Given the description of an element on the screen output the (x, y) to click on. 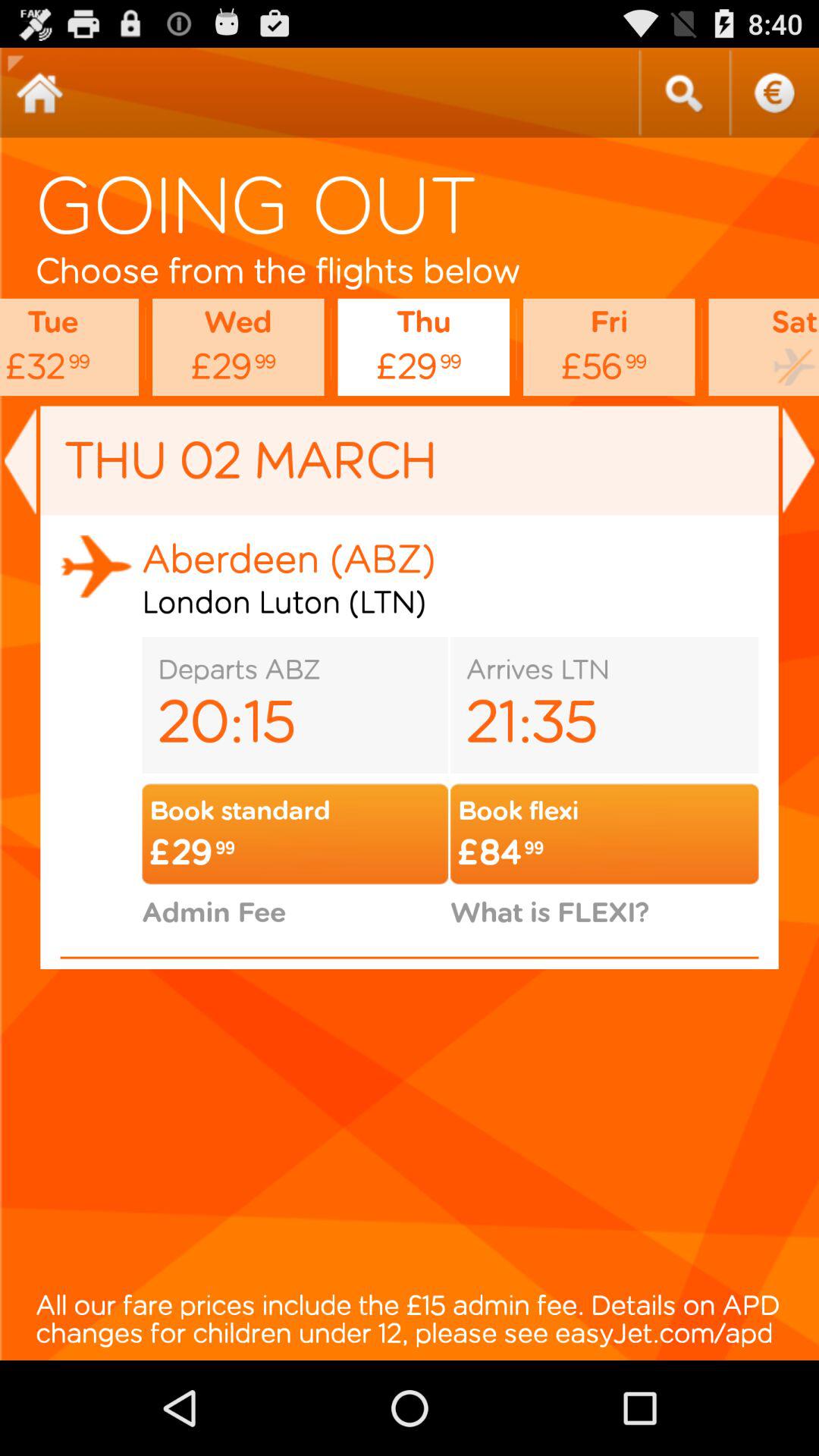
search button (683, 92)
